Given the description of an element on the screen output the (x, y) to click on. 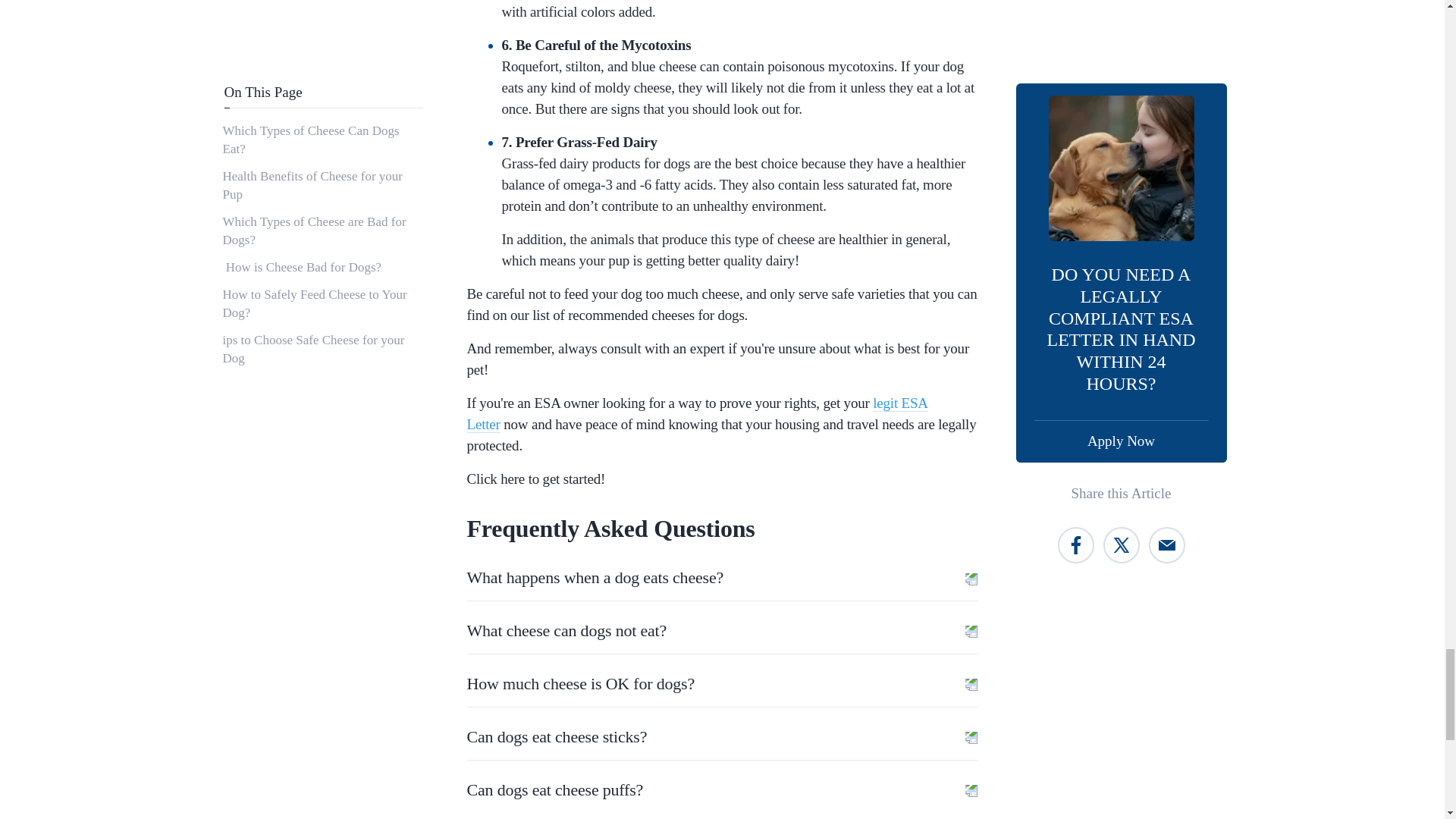
legit ESA Letter (697, 413)
